Given the description of an element on the screen output the (x, y) to click on. 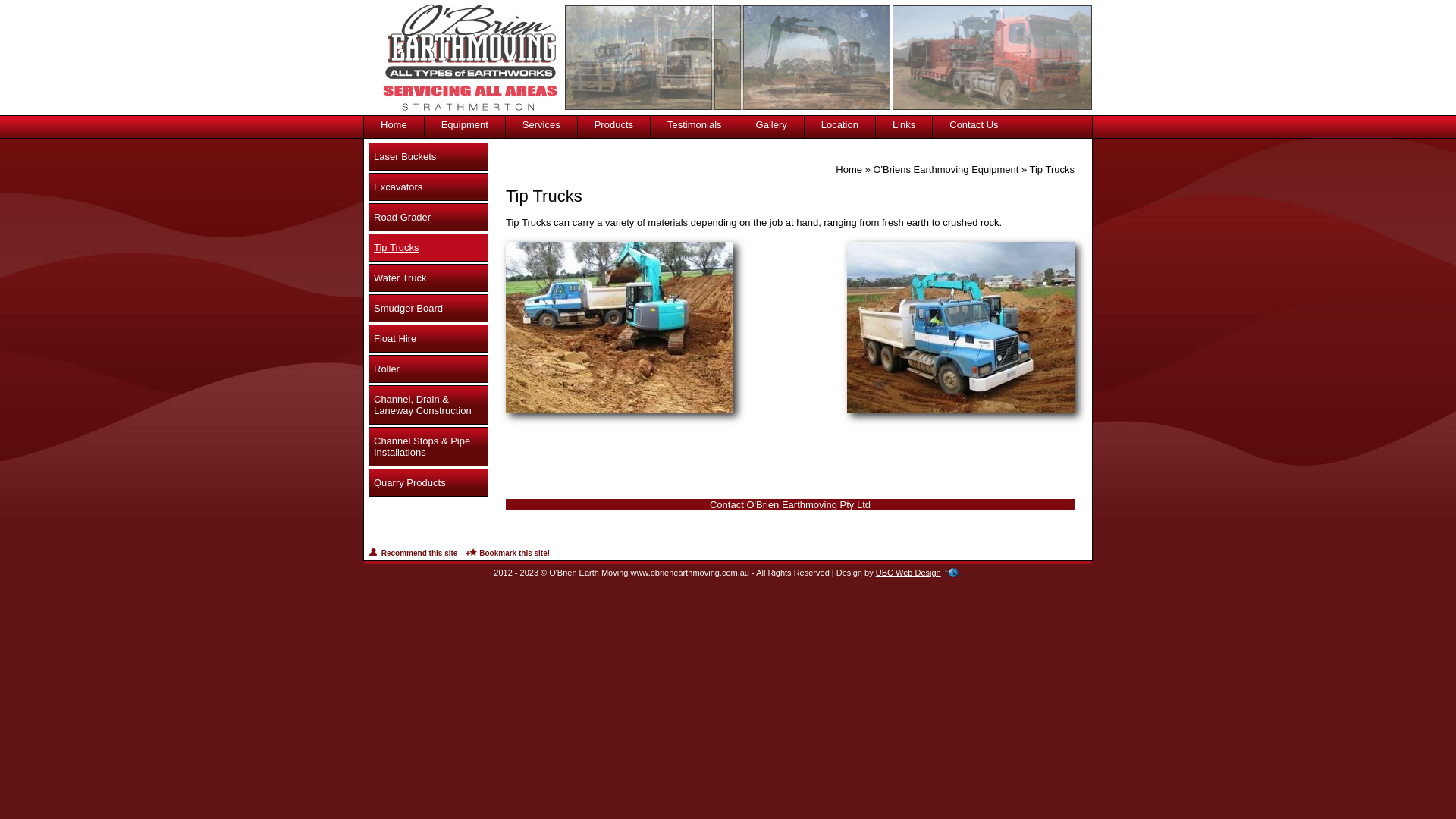
Excavators Element type: text (428, 186)
Equipment Element type: text (464, 118)
O'Briens Earthmoving Equipment Element type: text (946, 169)
Links Element type: text (903, 118)
Water Truck Element type: text (428, 277)
Road Grader Element type: text (428, 217)
Roller Element type: text (428, 368)
Channel, Drain & Laneway Construction Element type: text (428, 404)
Recommend this site Element type: text (412, 553)
Channel Stops & Pipe Installations Element type: text (428, 446)
Products Element type: text (613, 118)
Home Element type: text (393, 118)
Services Element type: text (541, 118)
Bookmark this site! Element type: text (507, 553)
Location Element type: text (839, 118)
Smudger Board Element type: text (428, 308)
Contact O'Brien Earthmoving Pty Ltd Element type: text (789, 504)
Testimonials Element type: text (694, 118)
Tip Trucks Element type: text (1051, 169)
Contact Us Element type: text (973, 118)
Home Element type: text (848, 169)
Quarry Products Element type: text (428, 482)
Tip Trucks Element type: text (428, 247)
Gallery Element type: text (771, 118)
Float Hire Element type: text (428, 338)
Laser Buckets Element type: text (428, 156)
UBC Web Design Element type: text (908, 572)
